Given the description of an element on the screen output the (x, y) to click on. 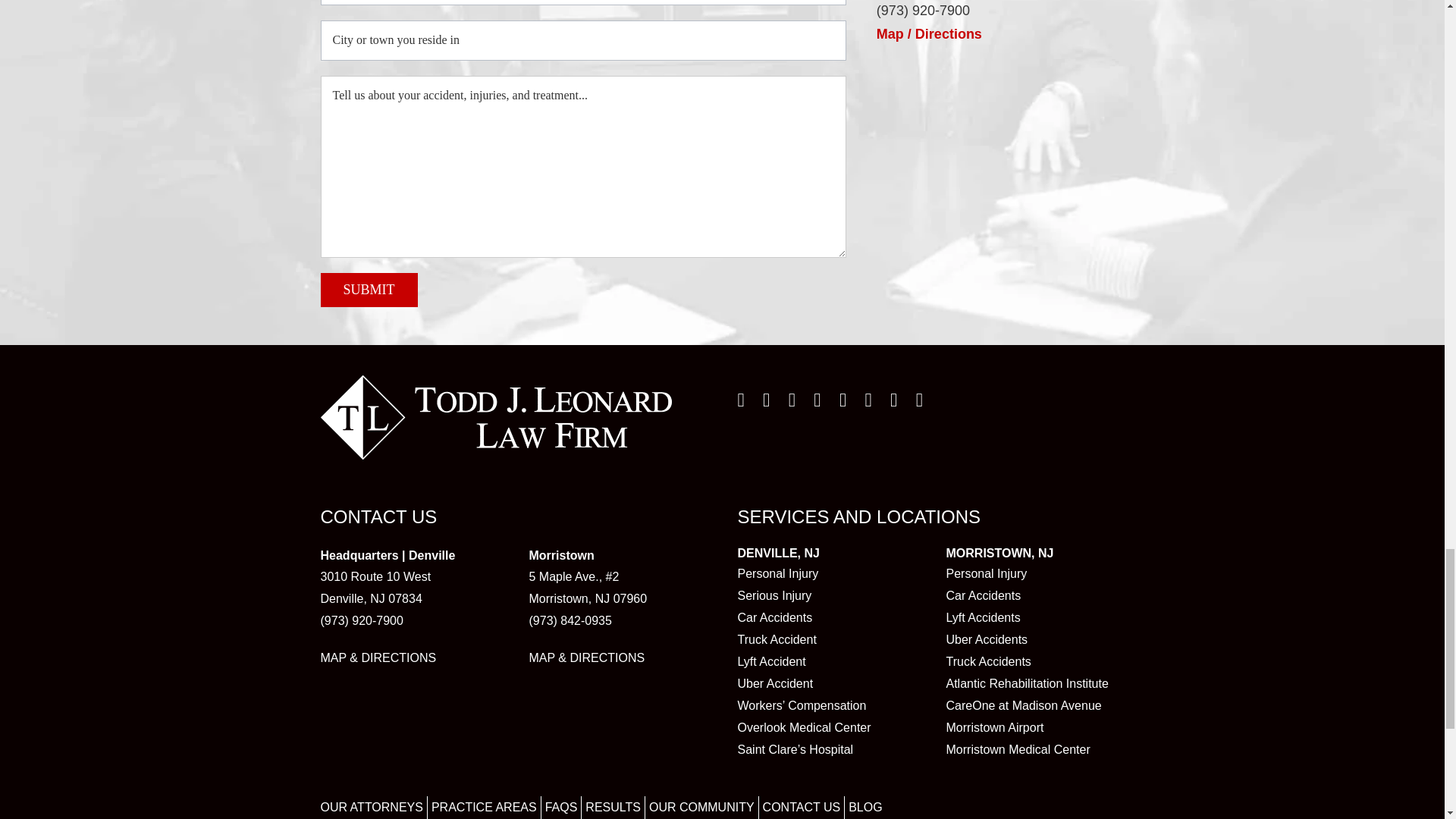
Todd J. Leonard Law Firm (495, 417)
Submit (368, 289)
